Given the description of an element on the screen output the (x, y) to click on. 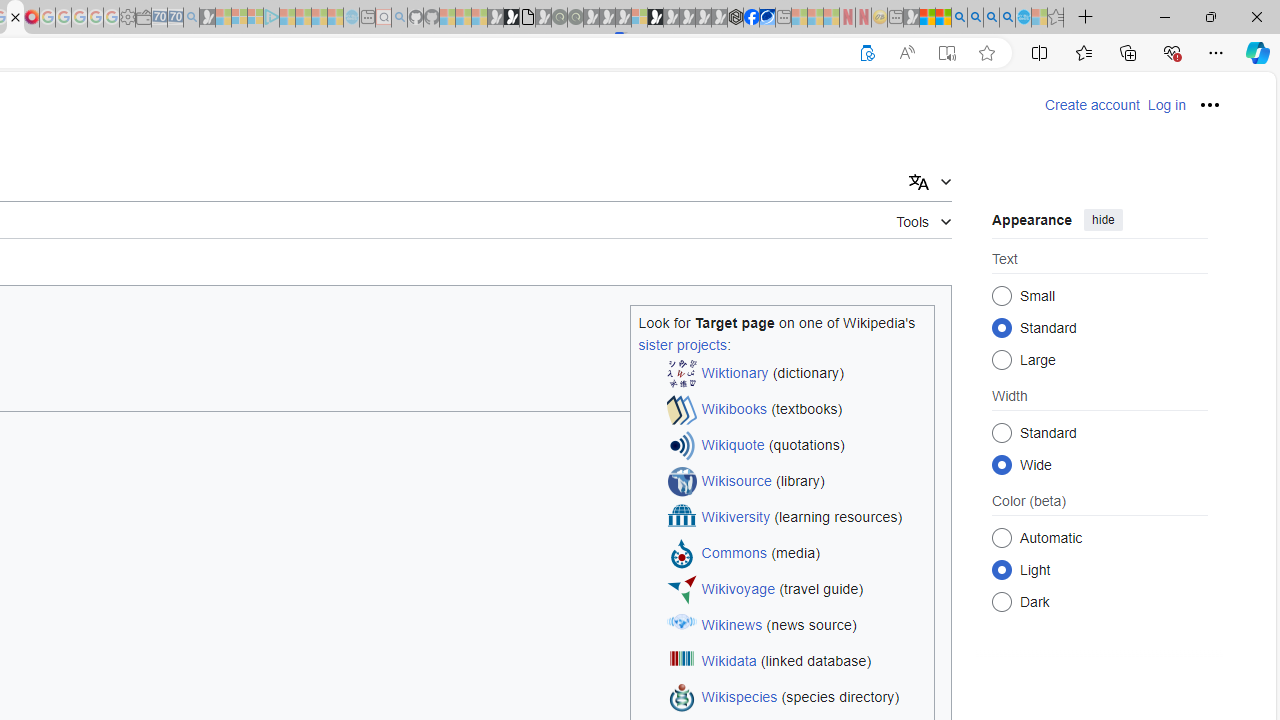
Sign in to your account - Sleeping (639, 17)
Automatic (1002, 537)
Tools (924, 218)
Support Wikipedia? (867, 53)
Wikispecies (species directory) (796, 698)
github - Search - Sleeping (399, 17)
hide (1103, 219)
